Given the description of an element on the screen output the (x, y) to click on. 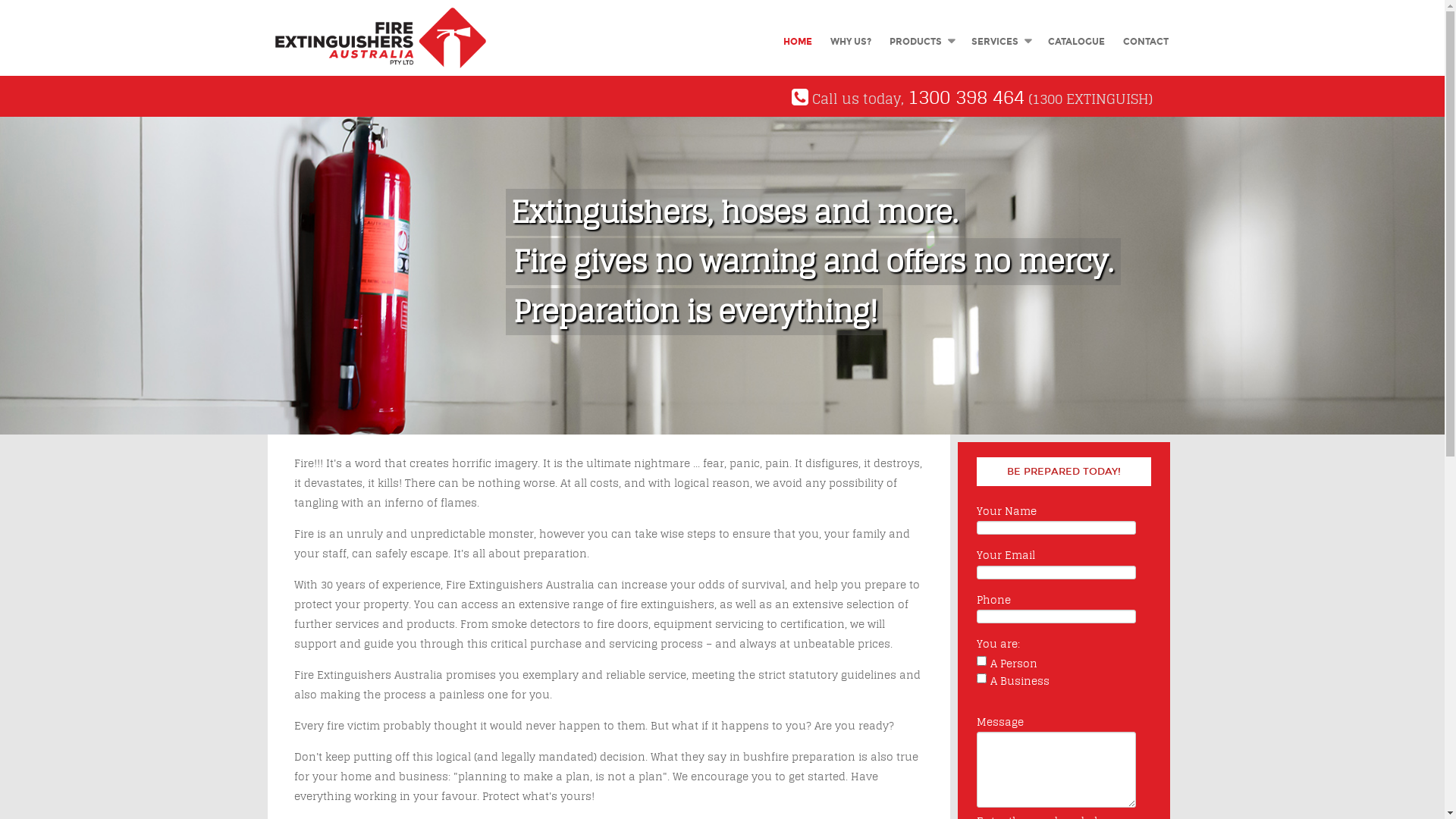
HOME Element type: text (796, 41)
PRODUCTS Element type: text (920, 41)
SERVICES Element type: text (999, 41)
CONTACT Element type: text (1144, 41)
1300 398 464 Element type: text (965, 96)
WHY US? Element type: text (849, 41)
CATALOGUE Element type: text (1075, 41)
